Given the description of an element on the screen output the (x, y) to click on. 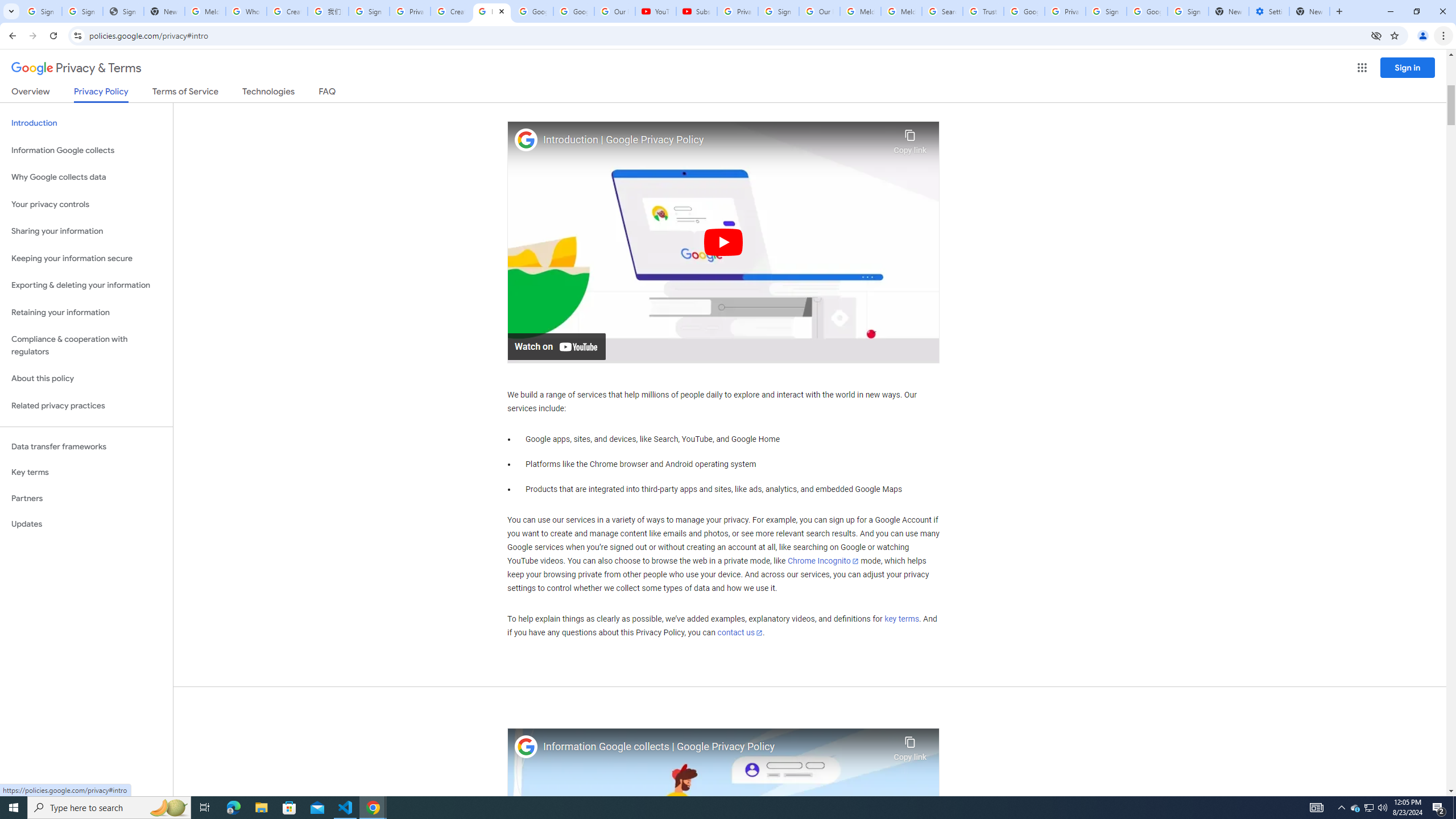
Why Google collects data (86, 176)
Sign in - Google Accounts (1105, 11)
YouTube (655, 11)
Google Ads - Sign in (1023, 11)
Search our Doodle Library Collection - Google Doodles (942, 11)
